Given the description of an element on the screen output the (x, y) to click on. 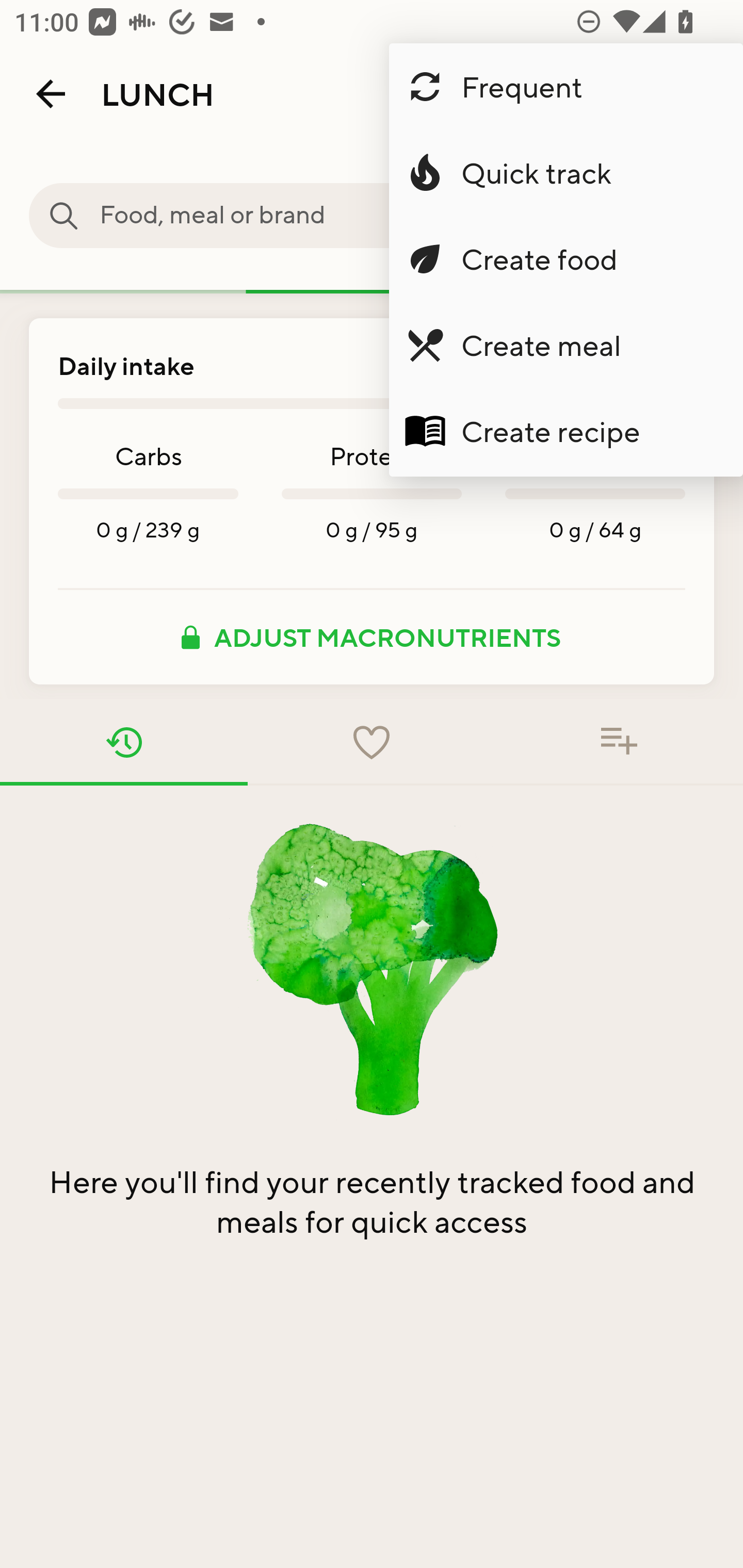
Frequent (566, 86)
Quick track (566, 173)
Create food (566, 259)
Create meal (566, 344)
Create recipe (566, 431)
